Given the description of an element on the screen output the (x, y) to click on. 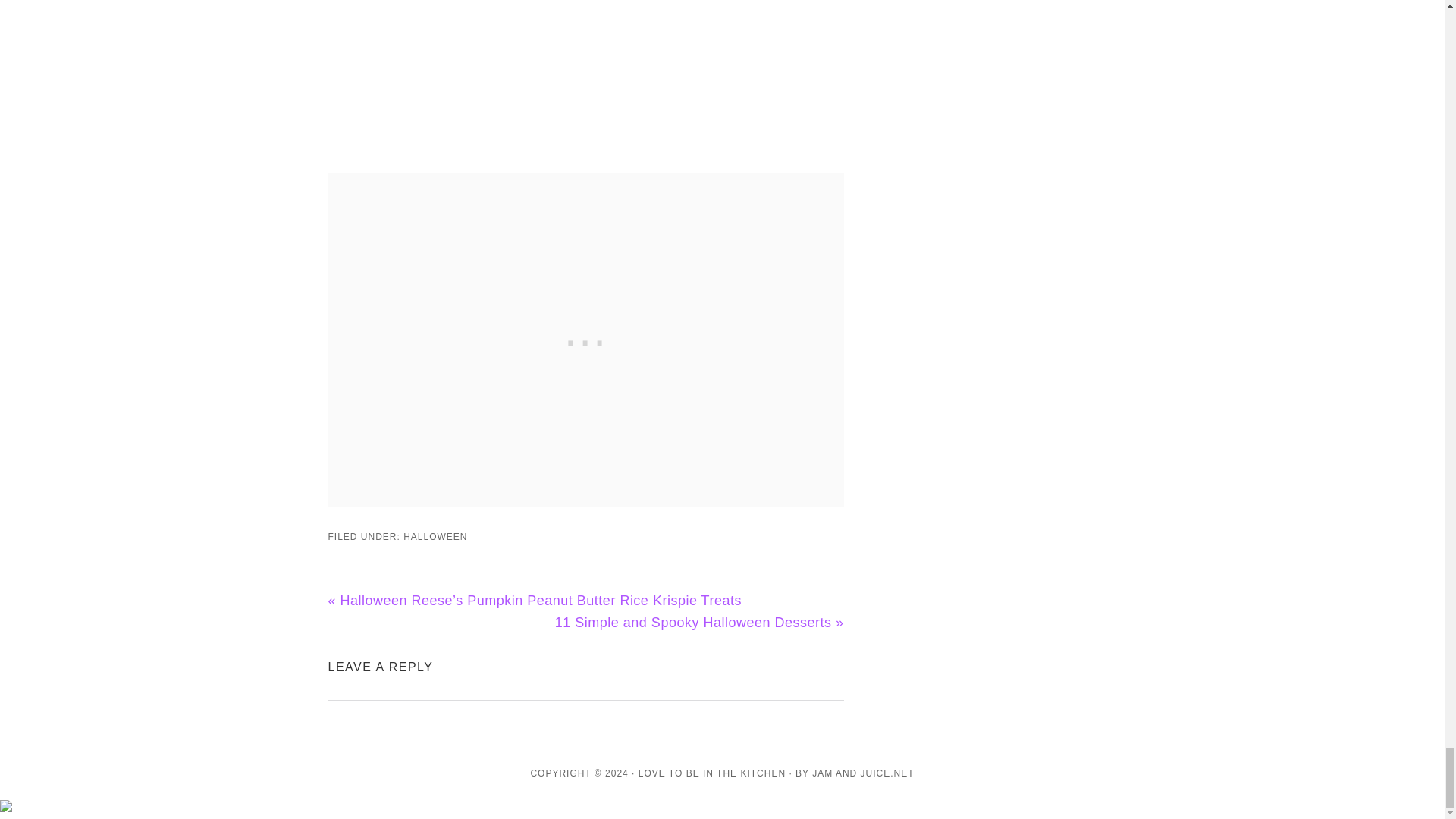
HALLOWEEN (435, 536)
